Given the description of an element on the screen output the (x, y) to click on. 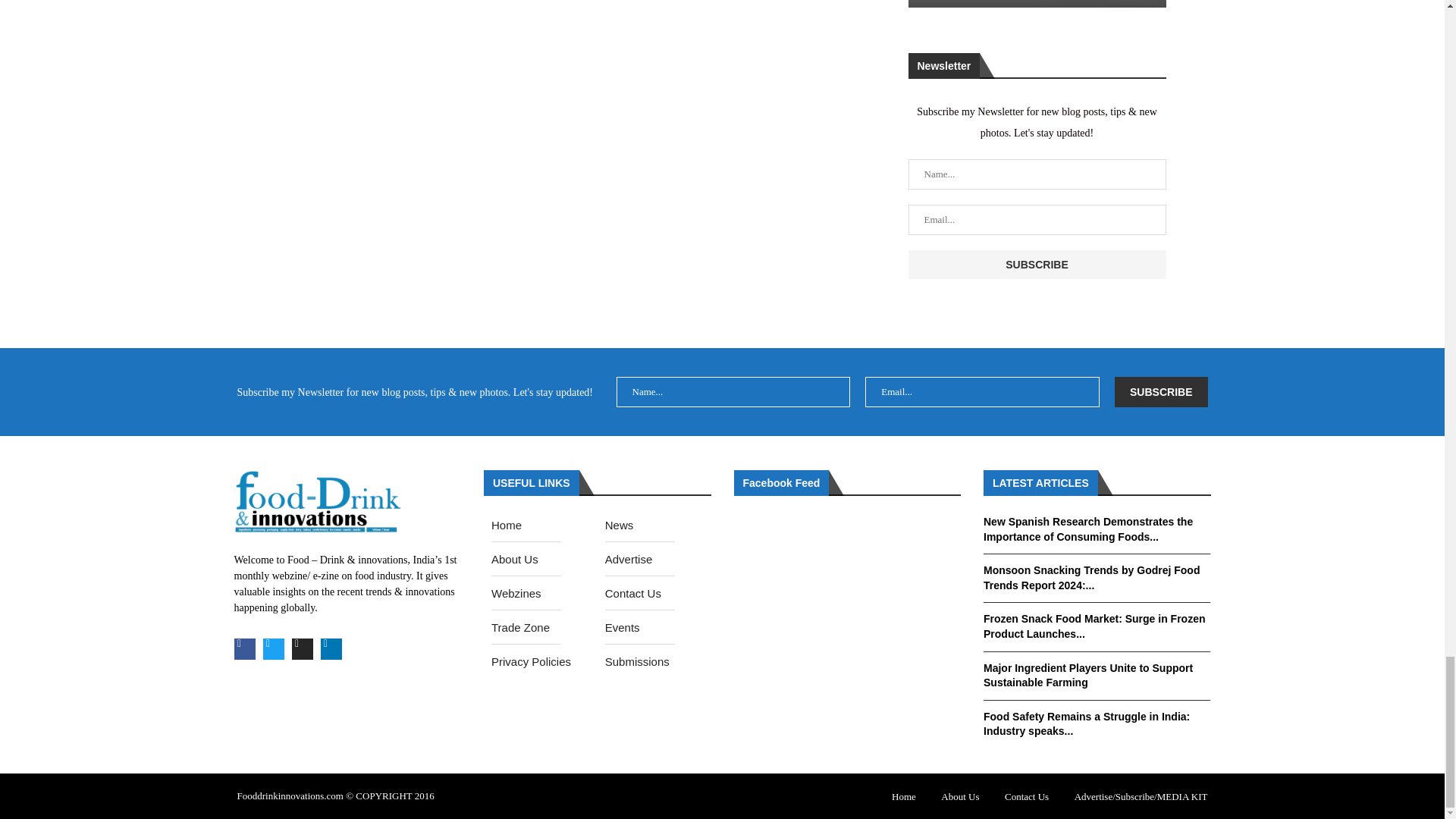
Subscribe (1161, 391)
Nutraceuticals for Mental Wellness (1034, 3)
Subscribe (1037, 264)
